Given the description of an element on the screen output the (x, y) to click on. 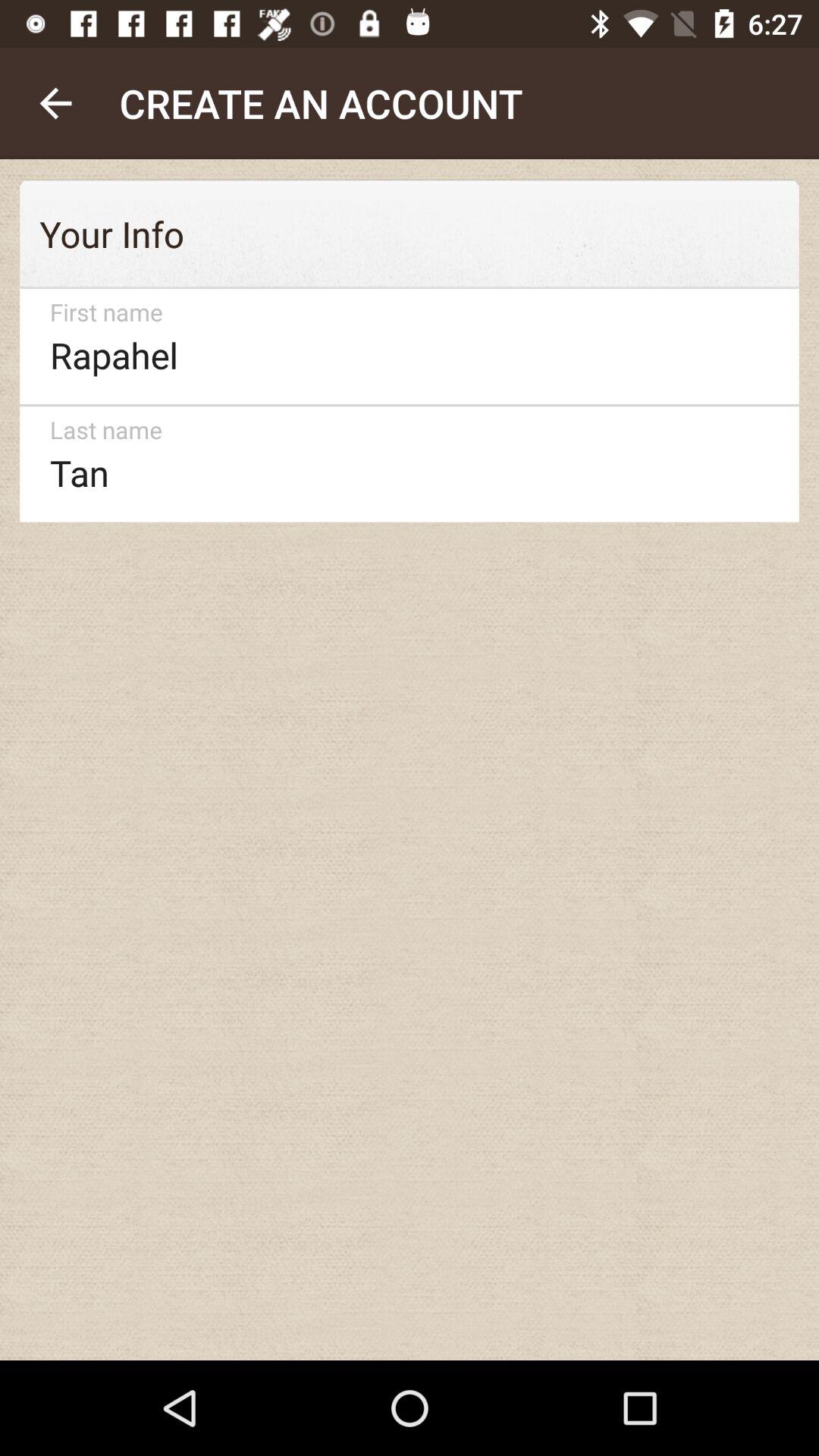
turn off the icon to the left of create an account icon (55, 103)
